Given the description of an element on the screen output the (x, y) to click on. 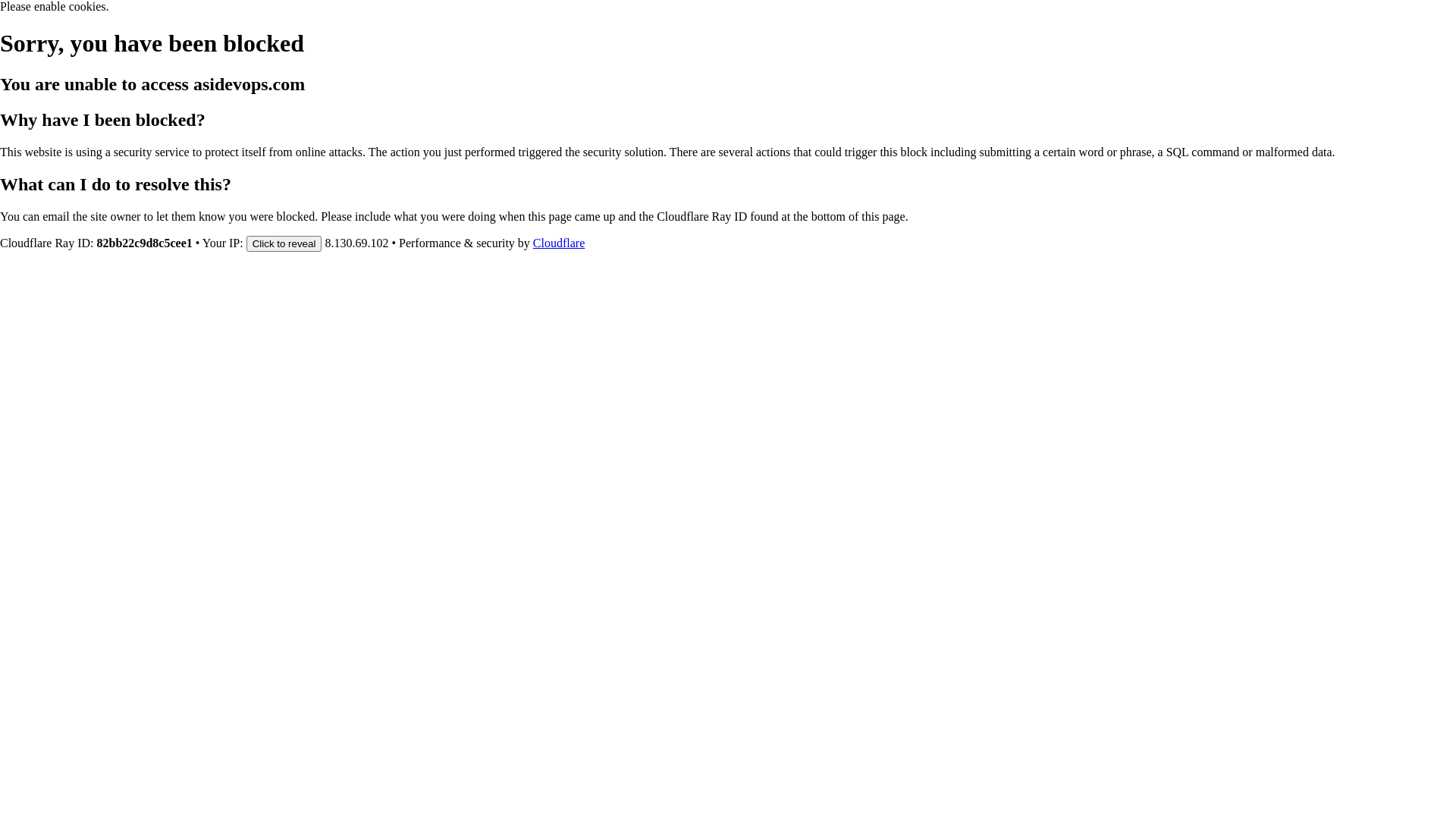
Cloudflare Element type: text (558, 242)
Click to reveal Element type: text (284, 243)
